Given the description of an element on the screen output the (x, y) to click on. 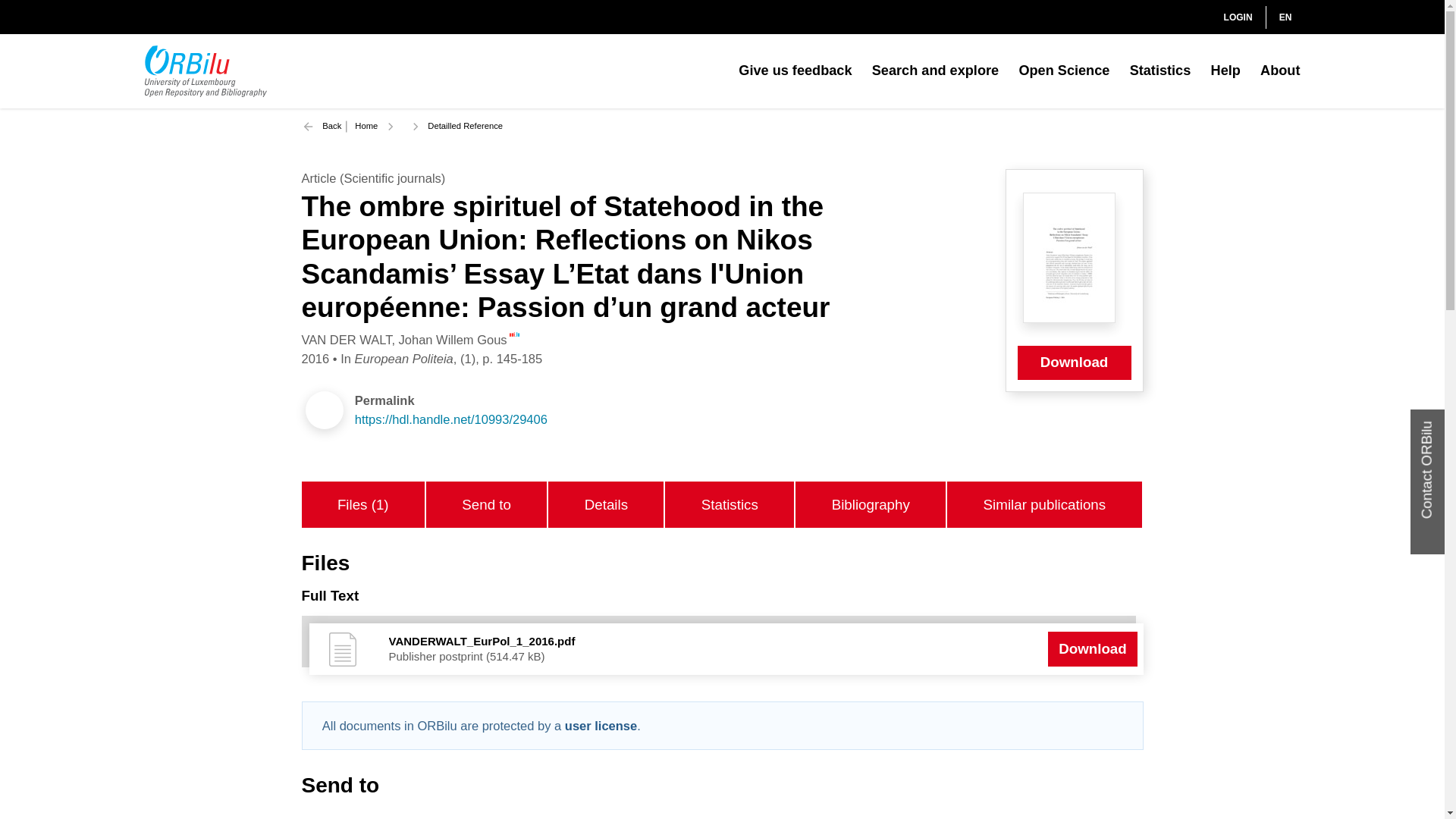
Search and explore (935, 70)
  LOGIN (1225, 17)
Open Science (1063, 70)
Help (1225, 70)
About (1280, 70)
Give us feedback (794, 70)
Statistics (1160, 70)
